Given the description of an element on the screen output the (x, y) to click on. 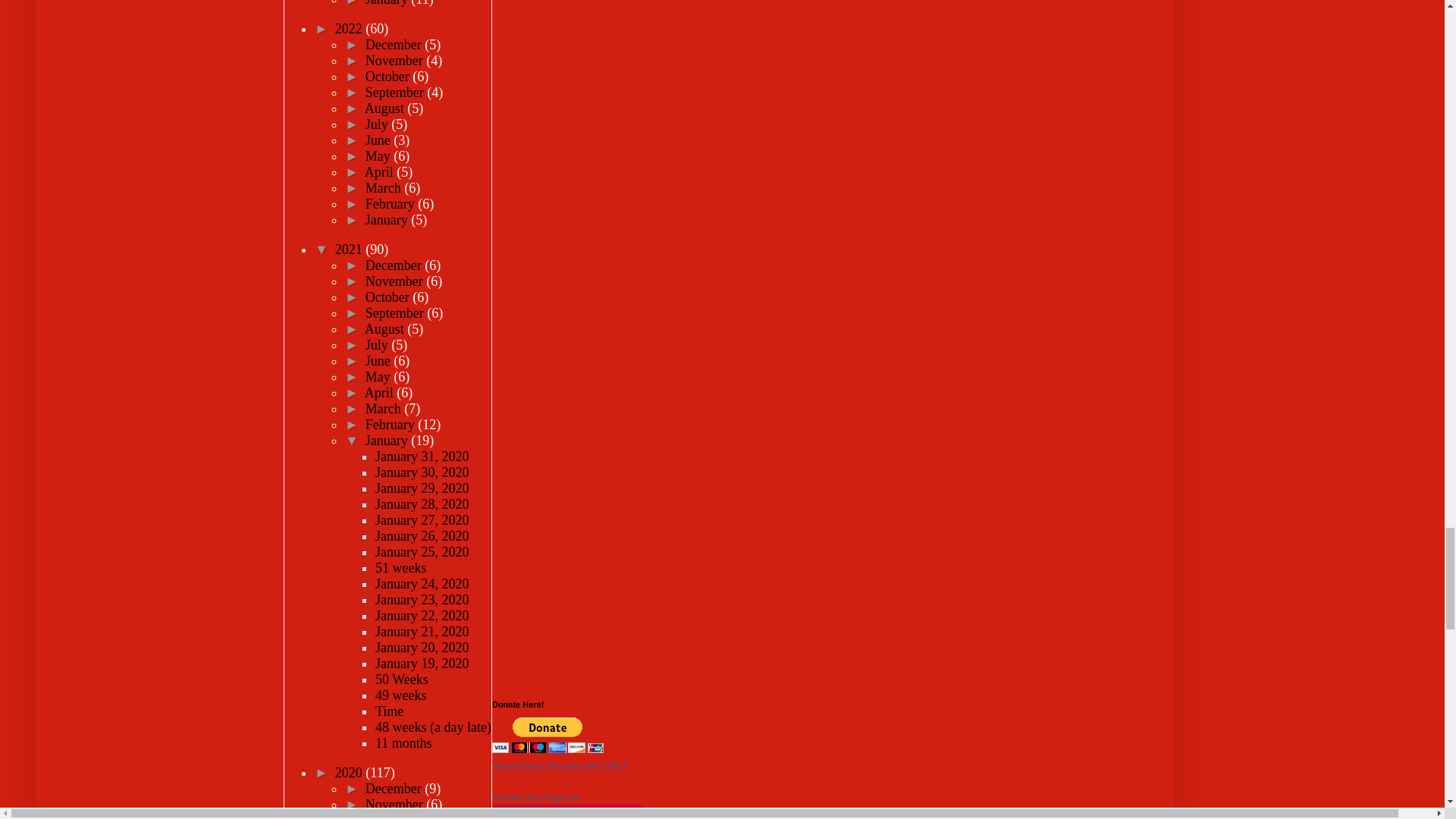
PayPal - The safer, easier way to pay online! (548, 734)
